Given the description of an element on the screen output the (x, y) to click on. 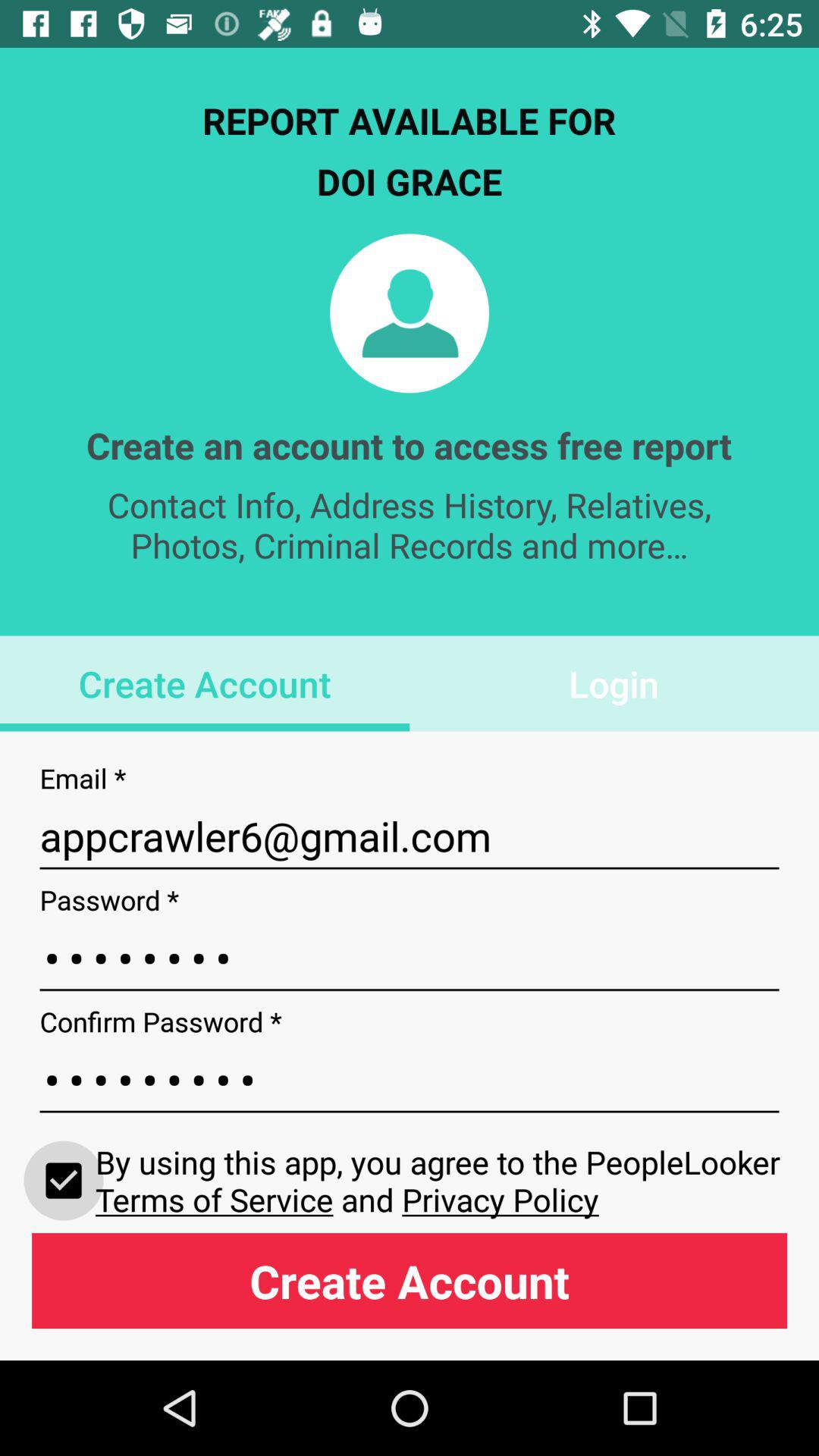
select appcrawler6@gmail.com (409, 836)
